Given the description of an element on the screen output the (x, y) to click on. 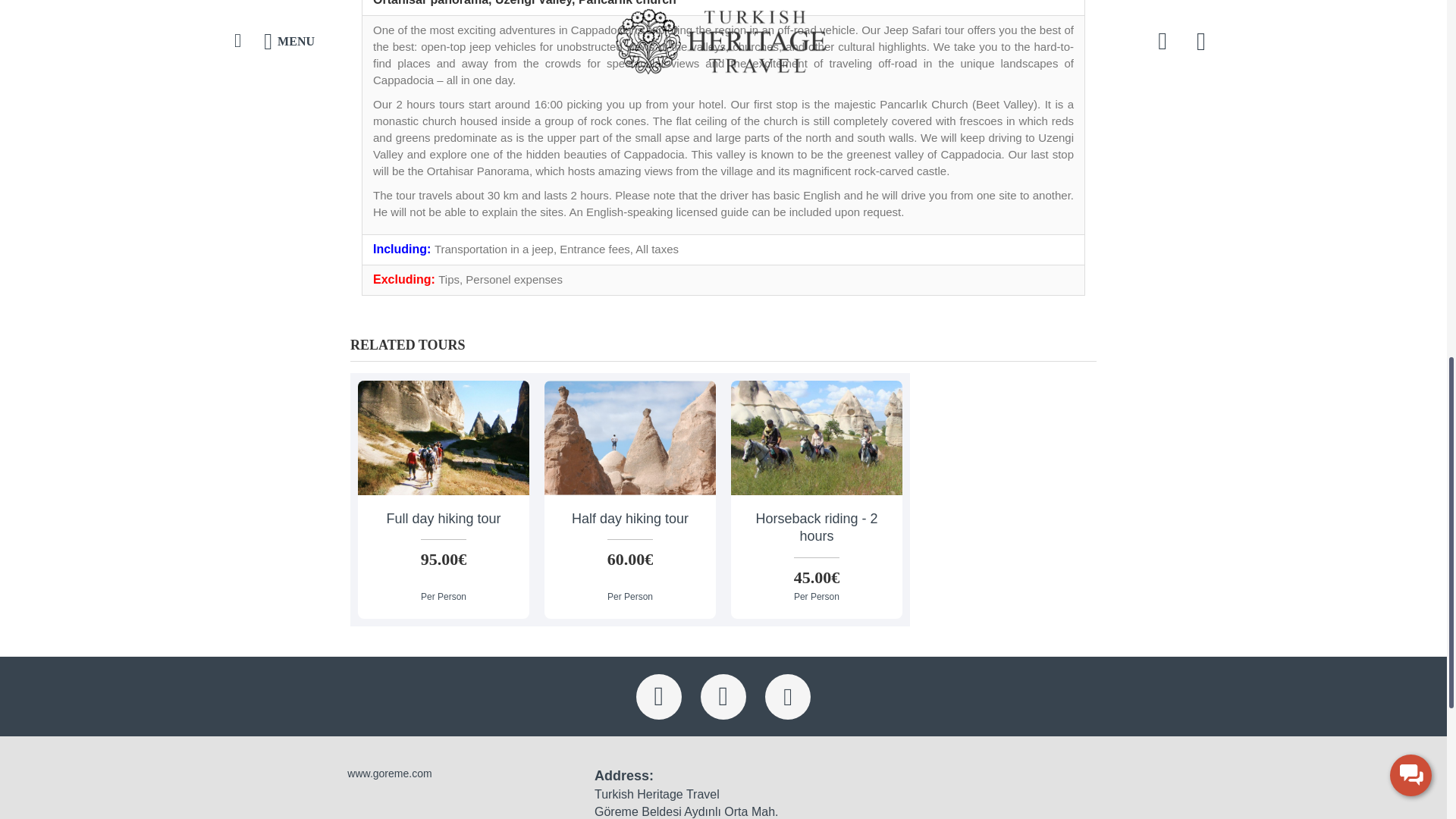
Horseback riding - 2 hours (816, 437)
Full day hiking tour (443, 437)
Half day hiking tour (630, 437)
